Given the description of an element on the screen output the (x, y) to click on. 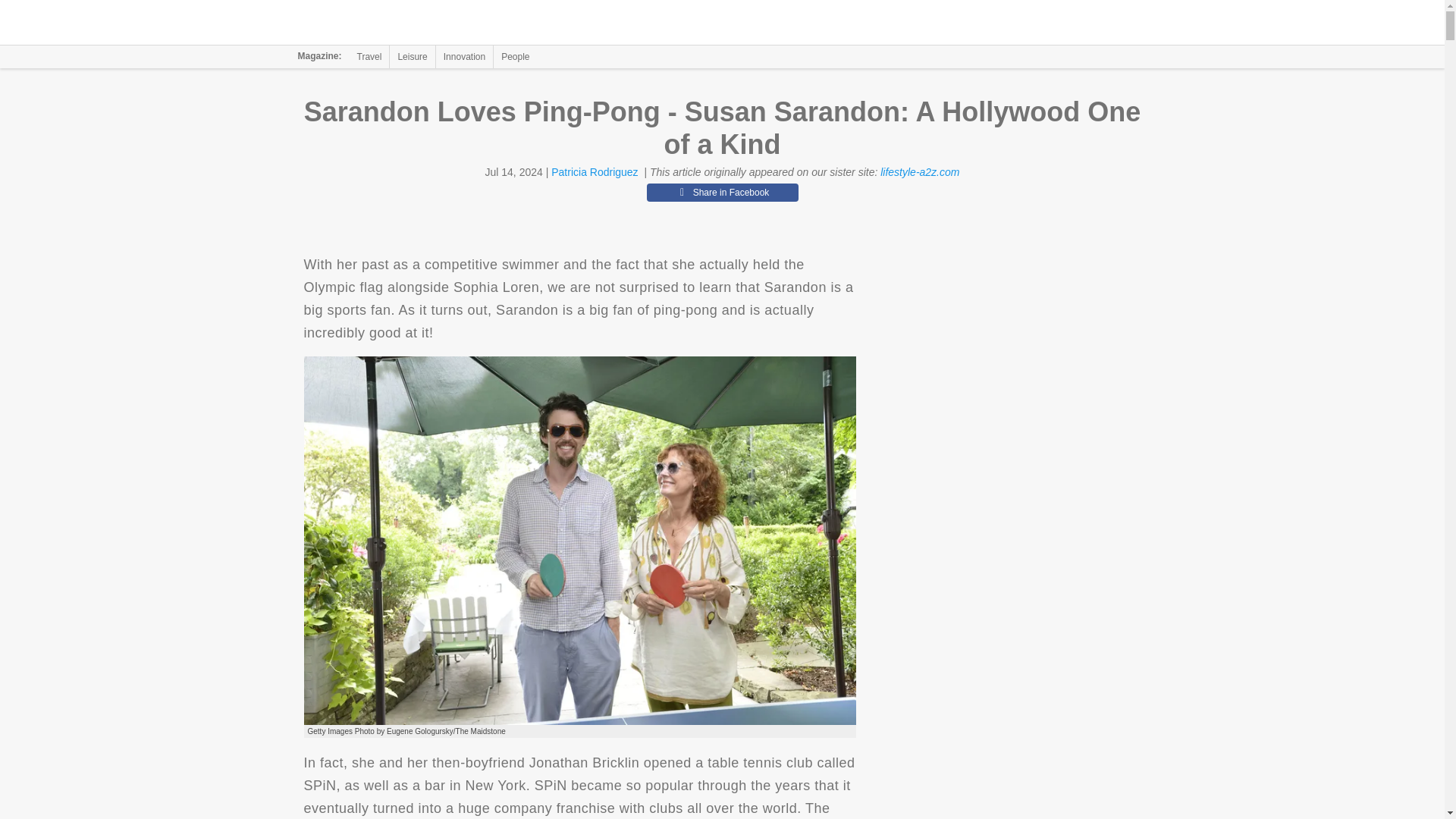
Leisure (411, 56)
Innovation (464, 56)
Patricia Rodriguez (594, 172)
People (515, 56)
The Jerusalem Post Magazine (391, 22)
lifestyle-a2z.com (919, 172)
Share in Facebook (721, 192)
Travel (369, 56)
